Given the description of an element on the screen output the (x, y) to click on. 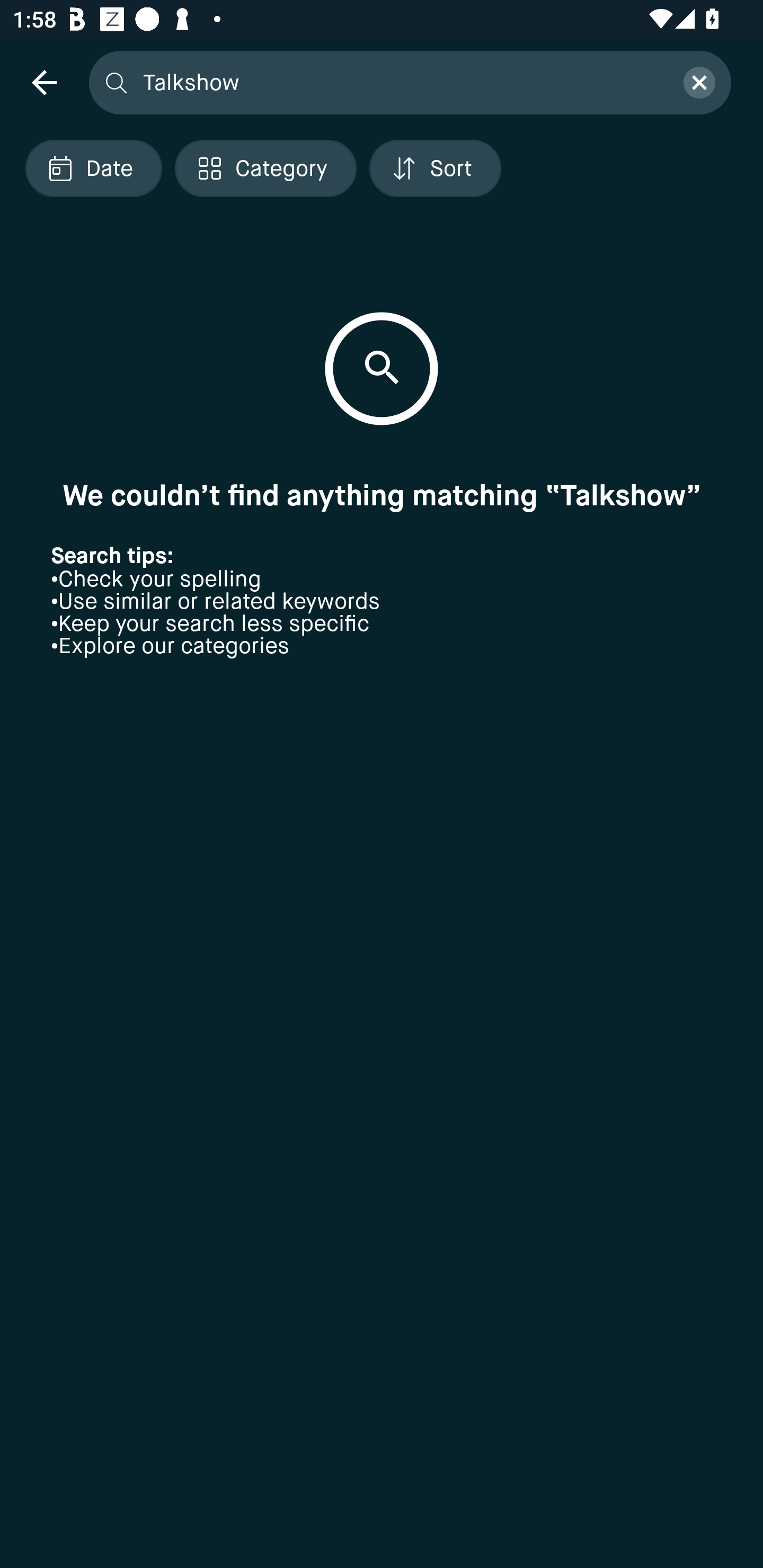
navigation icon (44, 81)
Talkshow (402, 81)
Localized description Date (93, 168)
Localized description Category (265, 168)
Localized description Sort (435, 168)
We couldn’t find anything matching “Talkshow” (381, 495)
